Given the description of an element on the screen output the (x, y) to click on. 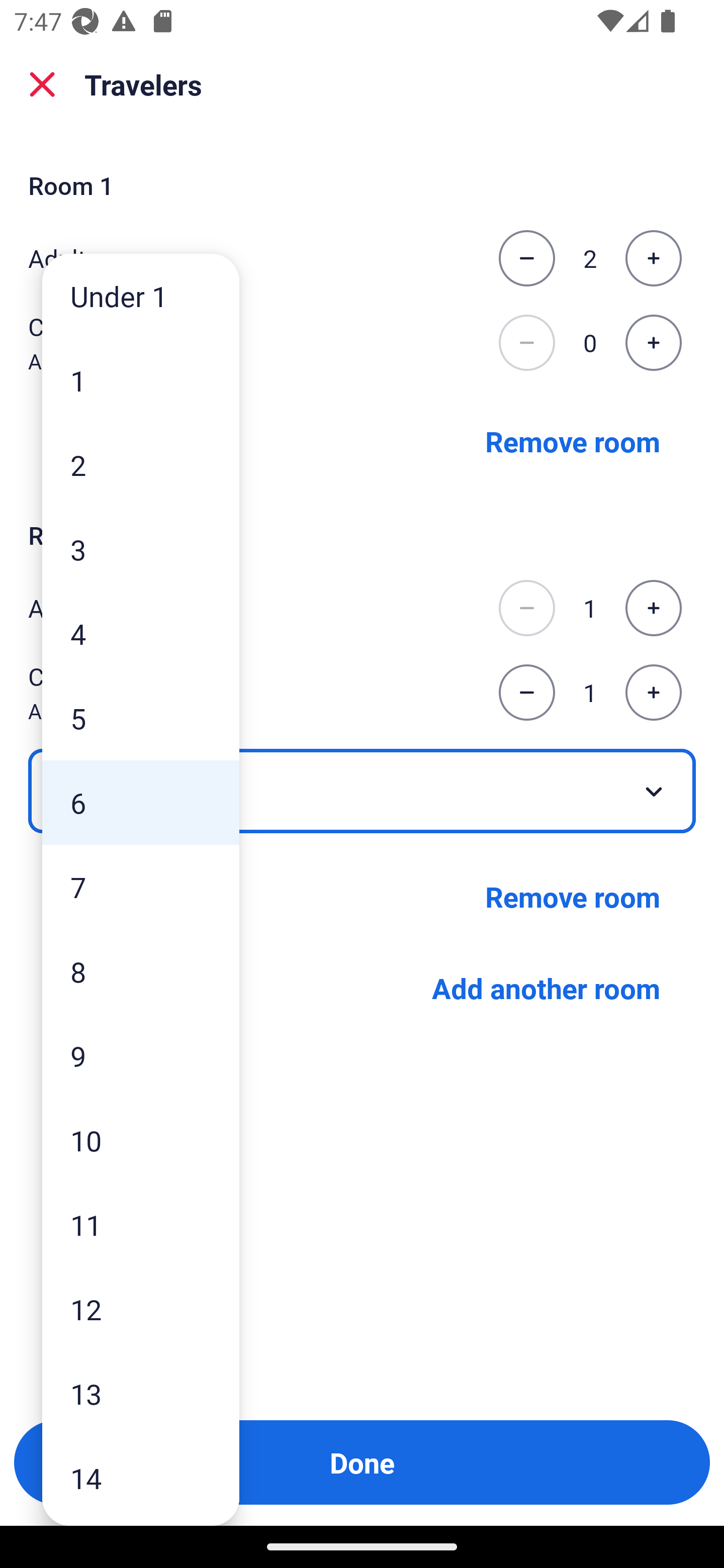
Under 1 (140, 296)
1 (140, 380)
2 (140, 464)
3 (140, 548)
4 (140, 633)
5 (140, 717)
7 (140, 887)
8 (140, 970)
9 (140, 1054)
10 (140, 1139)
11 (140, 1224)
12 (140, 1308)
13 (140, 1393)
14 (140, 1478)
